Given the description of an element on the screen output the (x, y) to click on. 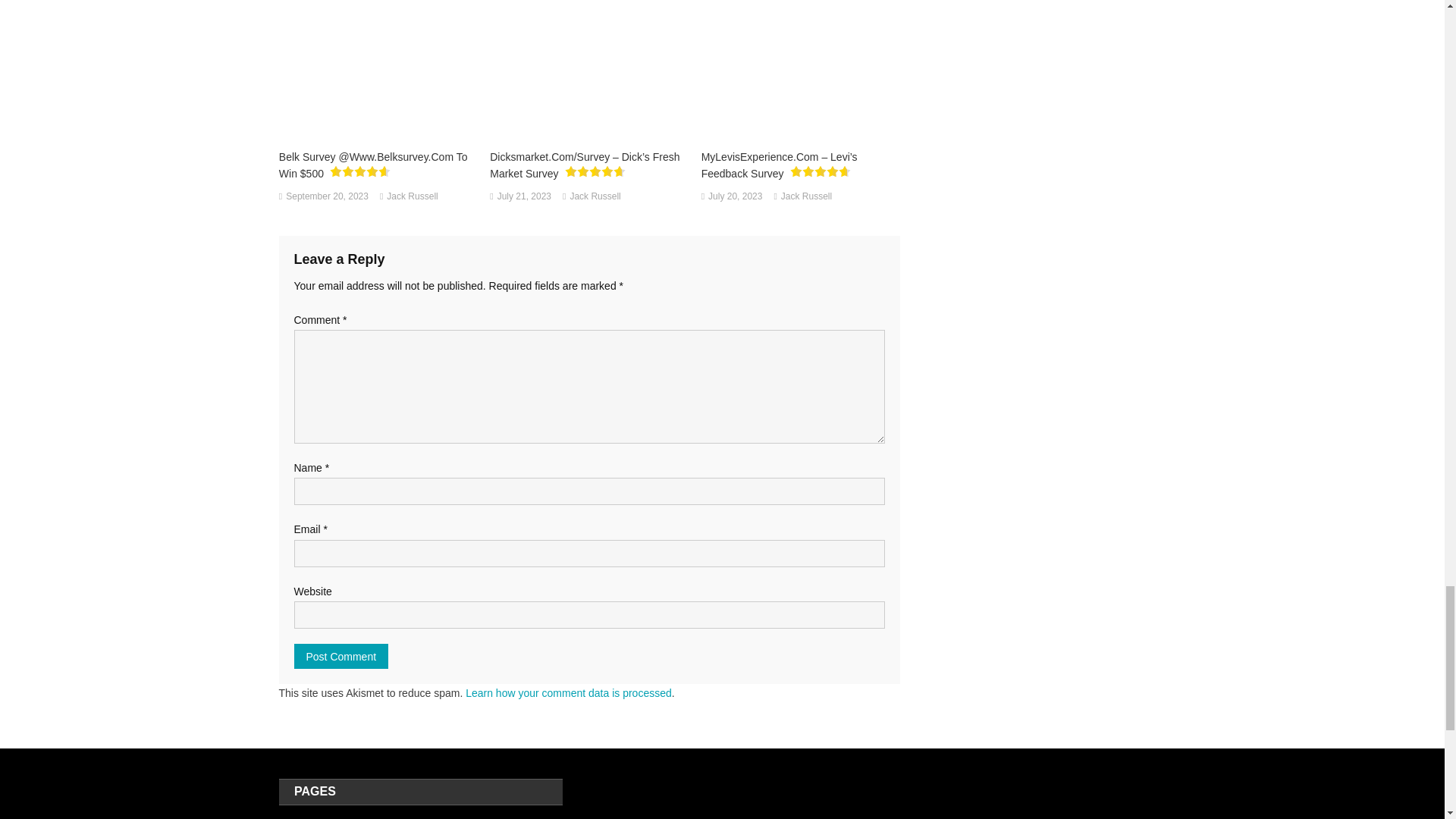
Post Comment (341, 656)
Jack Russell (412, 197)
September 20, 2023 (326, 197)
July 20, 2023 (734, 197)
Jack Russell (594, 197)
July 21, 2023 (524, 197)
Jack Russell (805, 197)
